Given the description of an element on the screen output the (x, y) to click on. 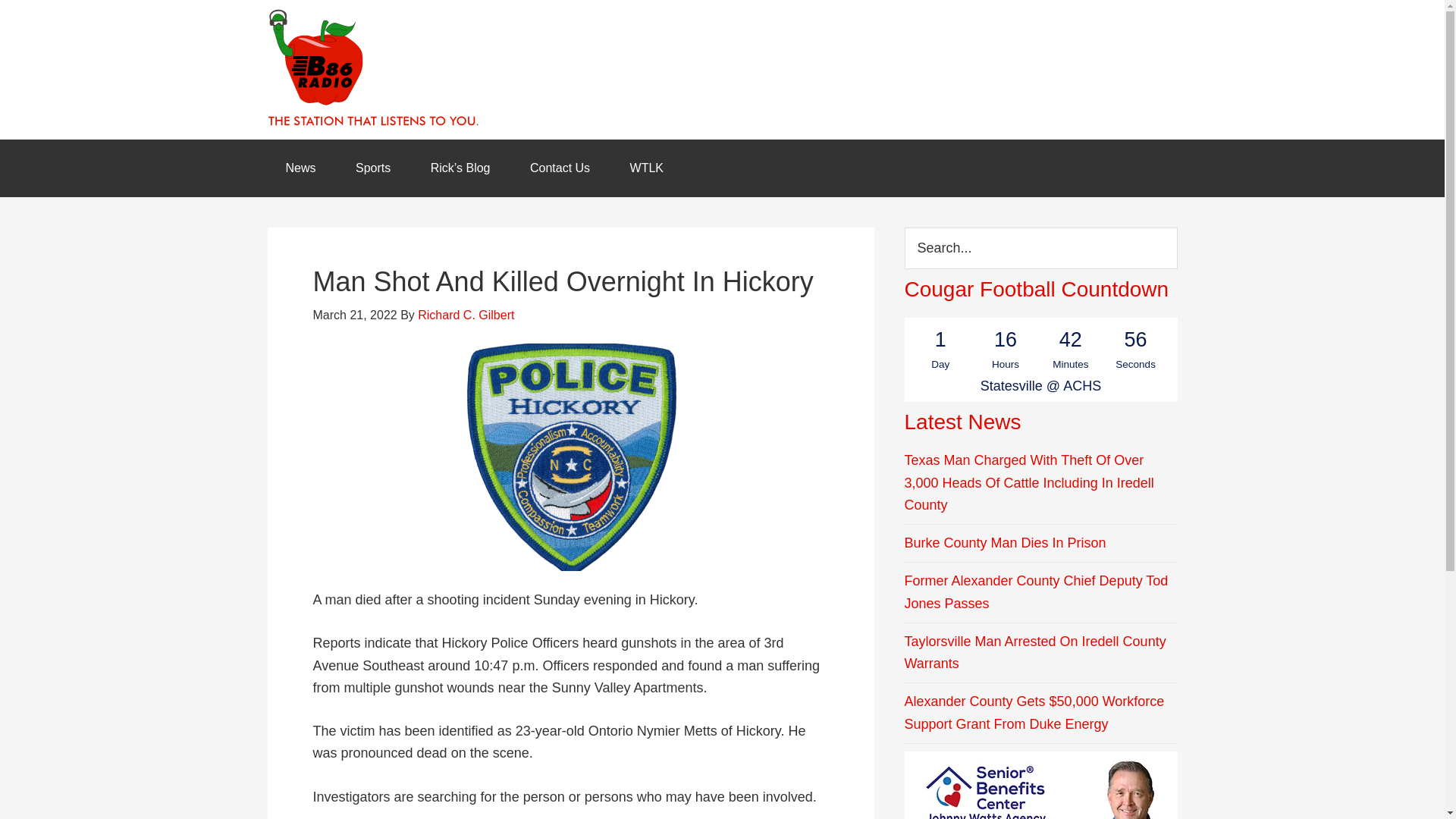
WTLK (646, 168)
News (299, 168)
Richard C. Gilbert (465, 314)
Sports (373, 168)
Contact Us (560, 168)
Taylorsville Man Arrested On Iredell County Warrants (1035, 651)
